Given the description of an element on the screen output the (x, y) to click on. 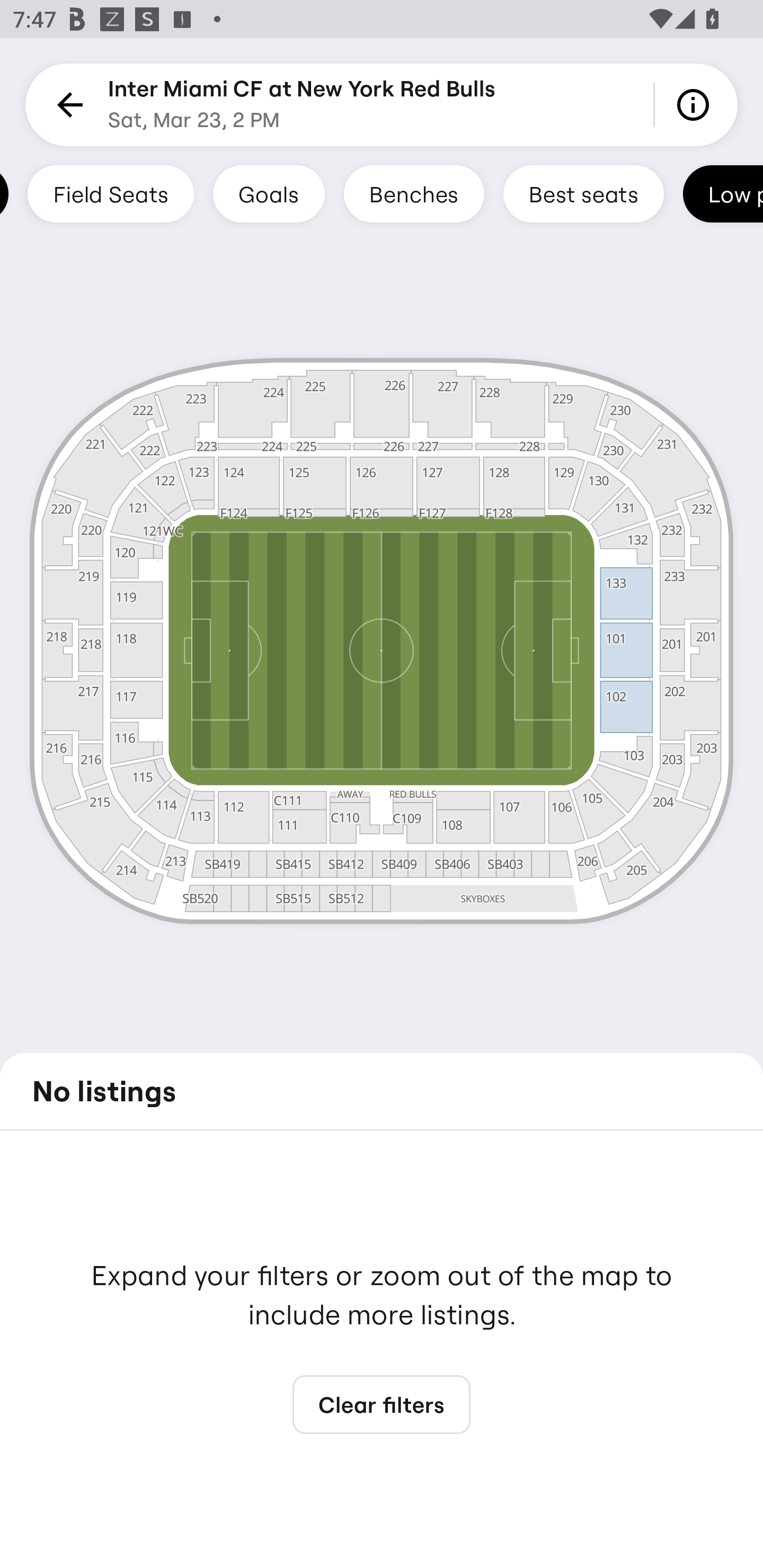
Back (66, 104)
Info (695, 104)
Field Seats (110, 193)
Goals (268, 193)
Benches (414, 193)
Best seats (583, 193)
Clear filters (381, 1404)
